Given the description of an element on the screen output the (x, y) to click on. 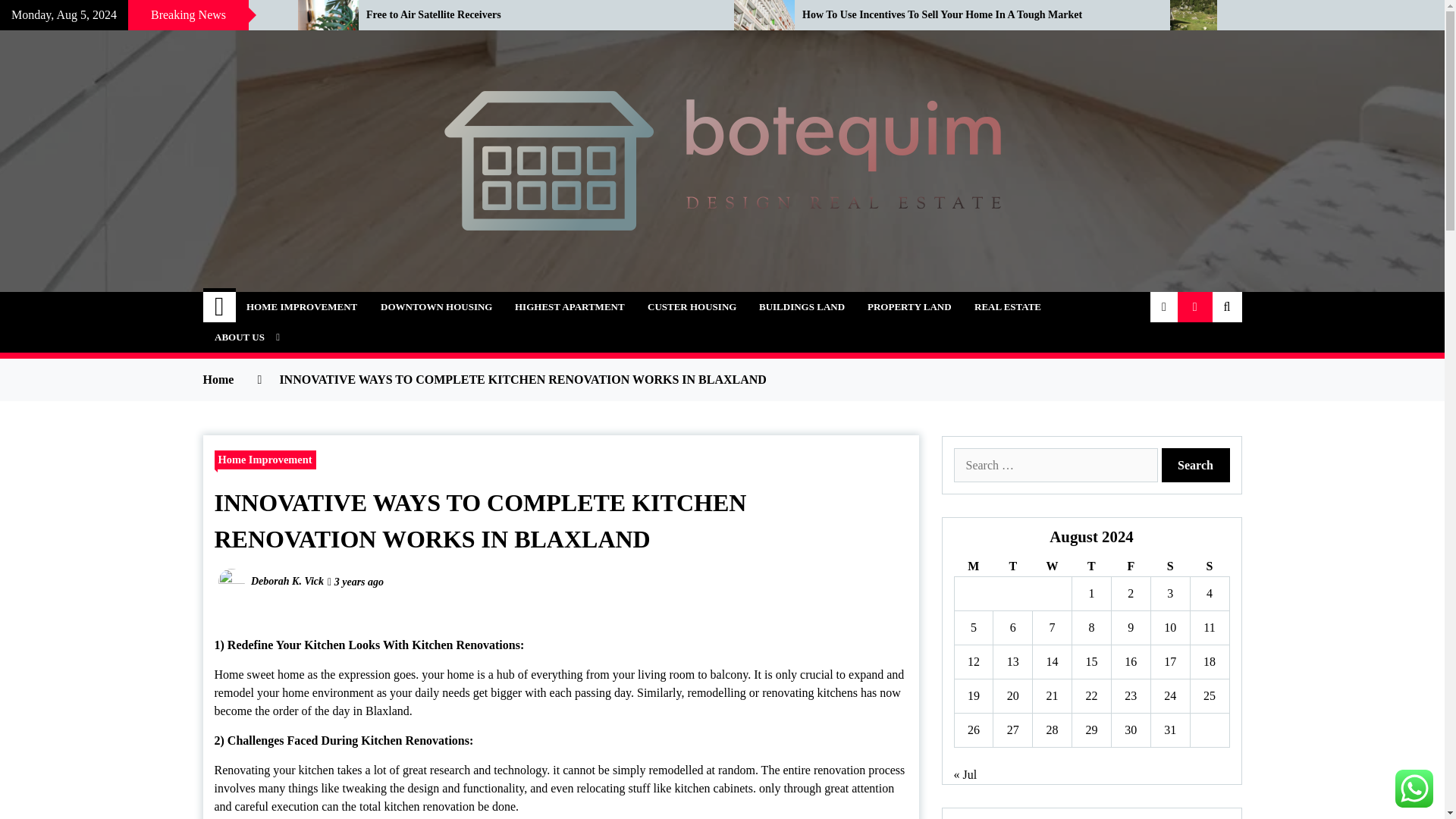
Free to Air Satellite Receivers (538, 15)
Tuesday (1012, 566)
Wednesday (1051, 566)
How To Use Incentives To Sell Your Home In A Tough Market (974, 15)
Search (1195, 464)
Sunday (1208, 566)
Saturday (1169, 566)
Friday (1130, 566)
Search (1195, 464)
Thursday (1091, 566)
Home (219, 306)
Monday (972, 566)
